Given the description of an element on the screen output the (x, y) to click on. 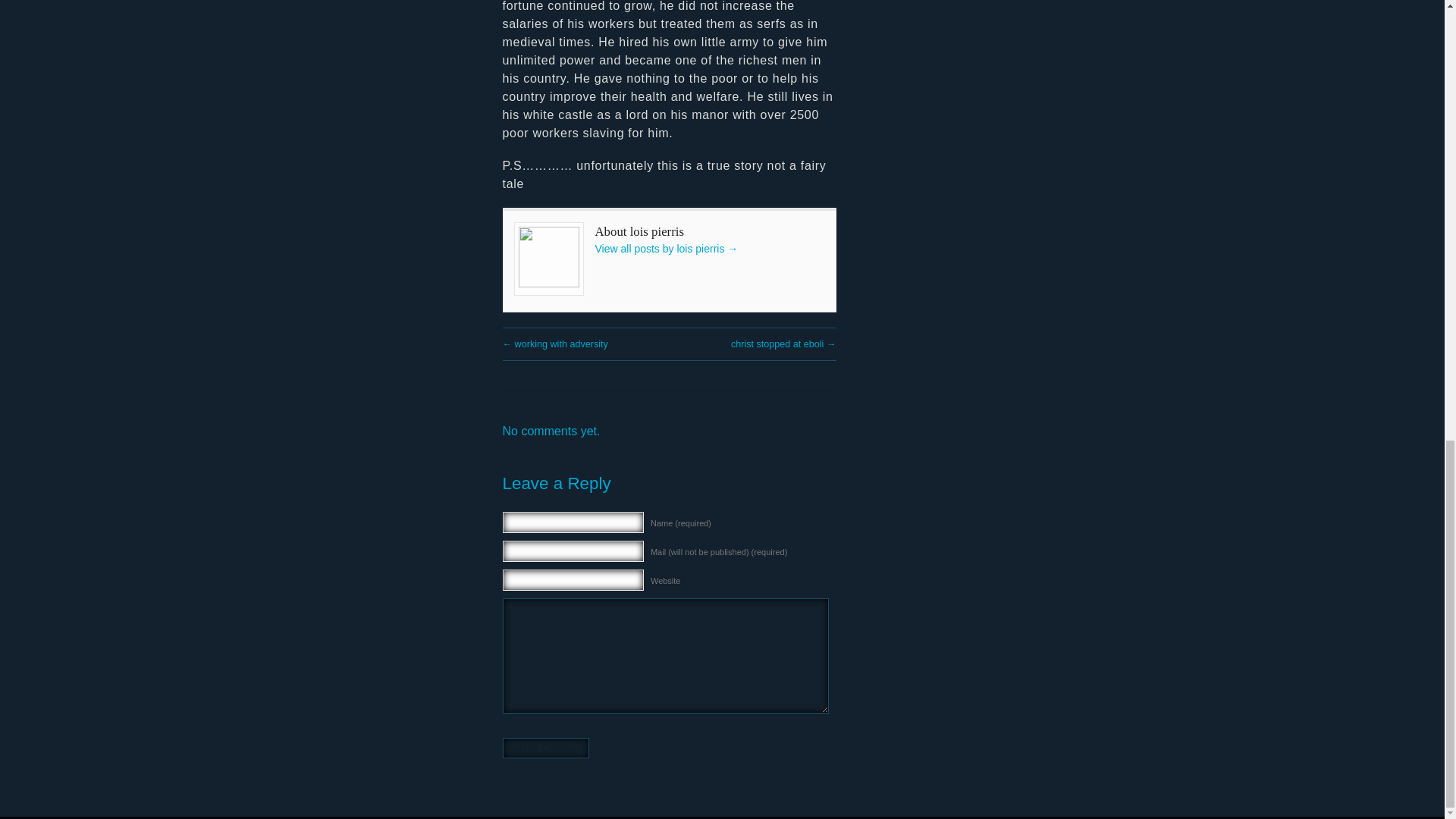
Submit Comment (545, 747)
Submit Comment (545, 747)
